Given the description of an element on the screen output the (x, y) to click on. 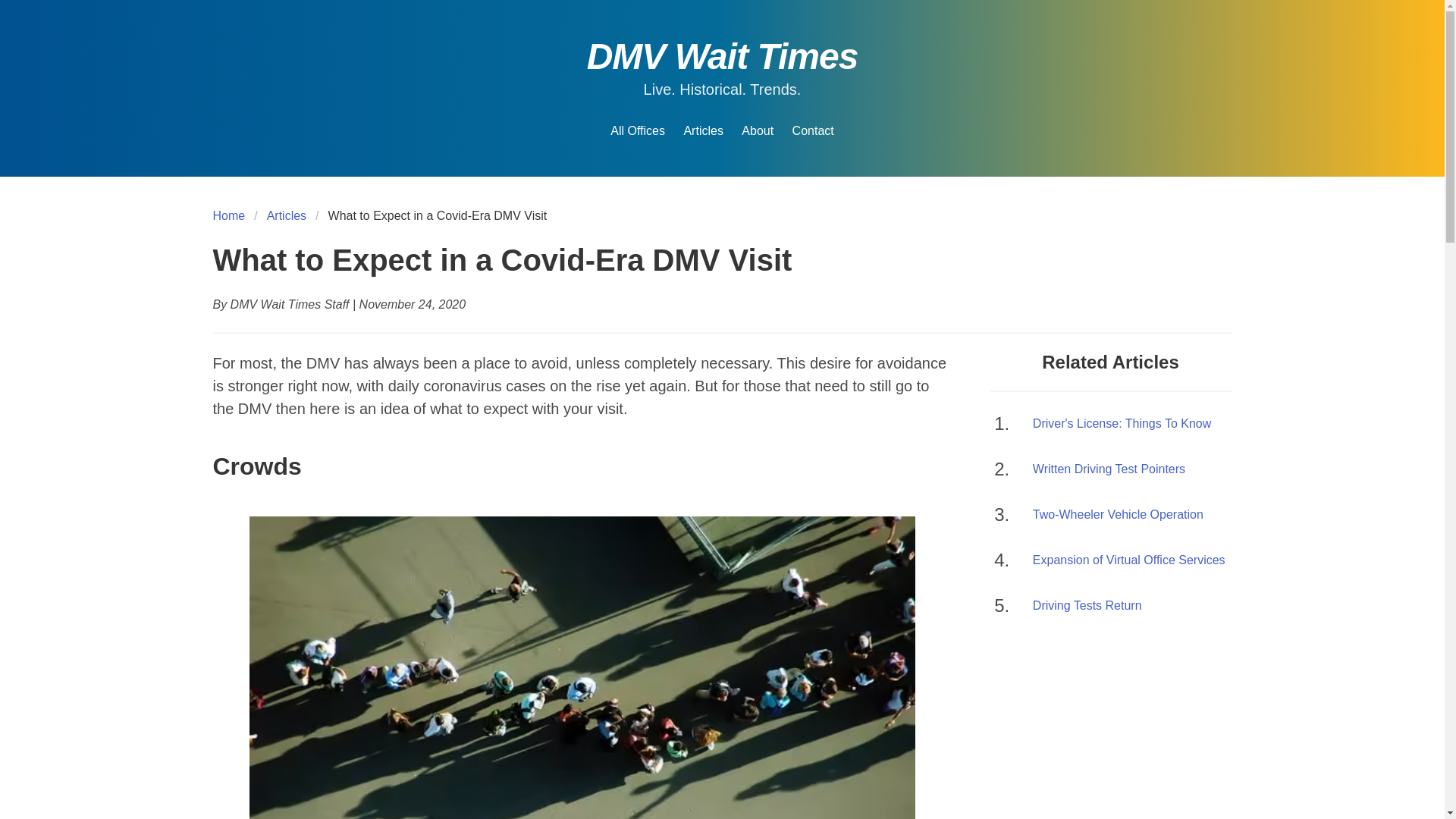
Two-Wheeler Vehicle Operation (1131, 515)
Written Driving Test Pointers (1131, 469)
DMV Wait Times (722, 56)
Driving Tests Return (1131, 606)
Articles (286, 216)
Home (232, 216)
Articles (702, 130)
Expansion of Virtual Office Services (1131, 560)
About (757, 130)
Contact (813, 130)
Driver's License: Things To Know (1131, 423)
What to Expect in a Covid-Era DMV Visit (437, 216)
All Offices (637, 130)
DMV Wait Times (722, 56)
